Given the description of an element on the screen output the (x, y) to click on. 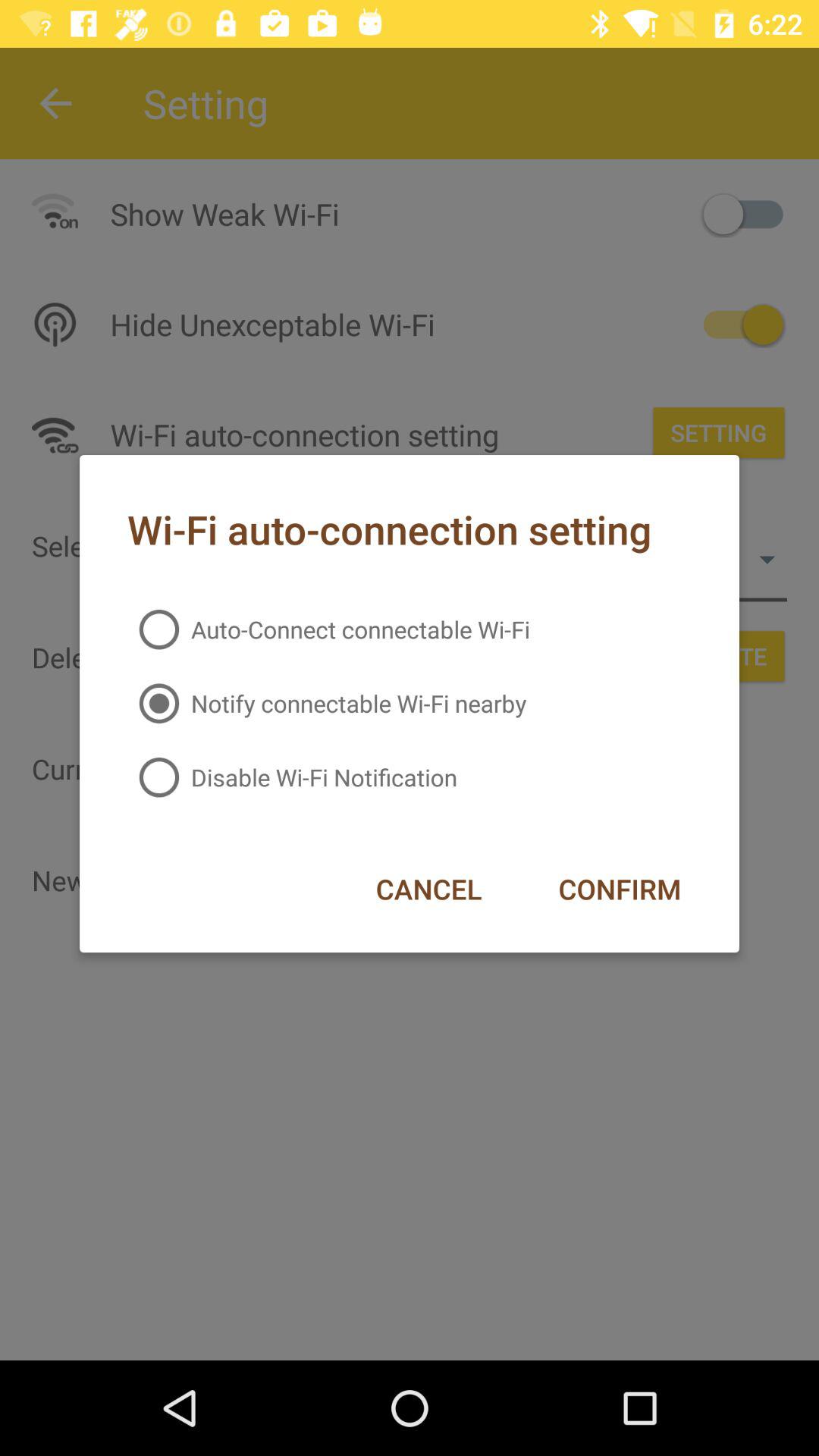
open icon to the left of the confirm icon (428, 888)
